Given the description of an element on the screen output the (x, y) to click on. 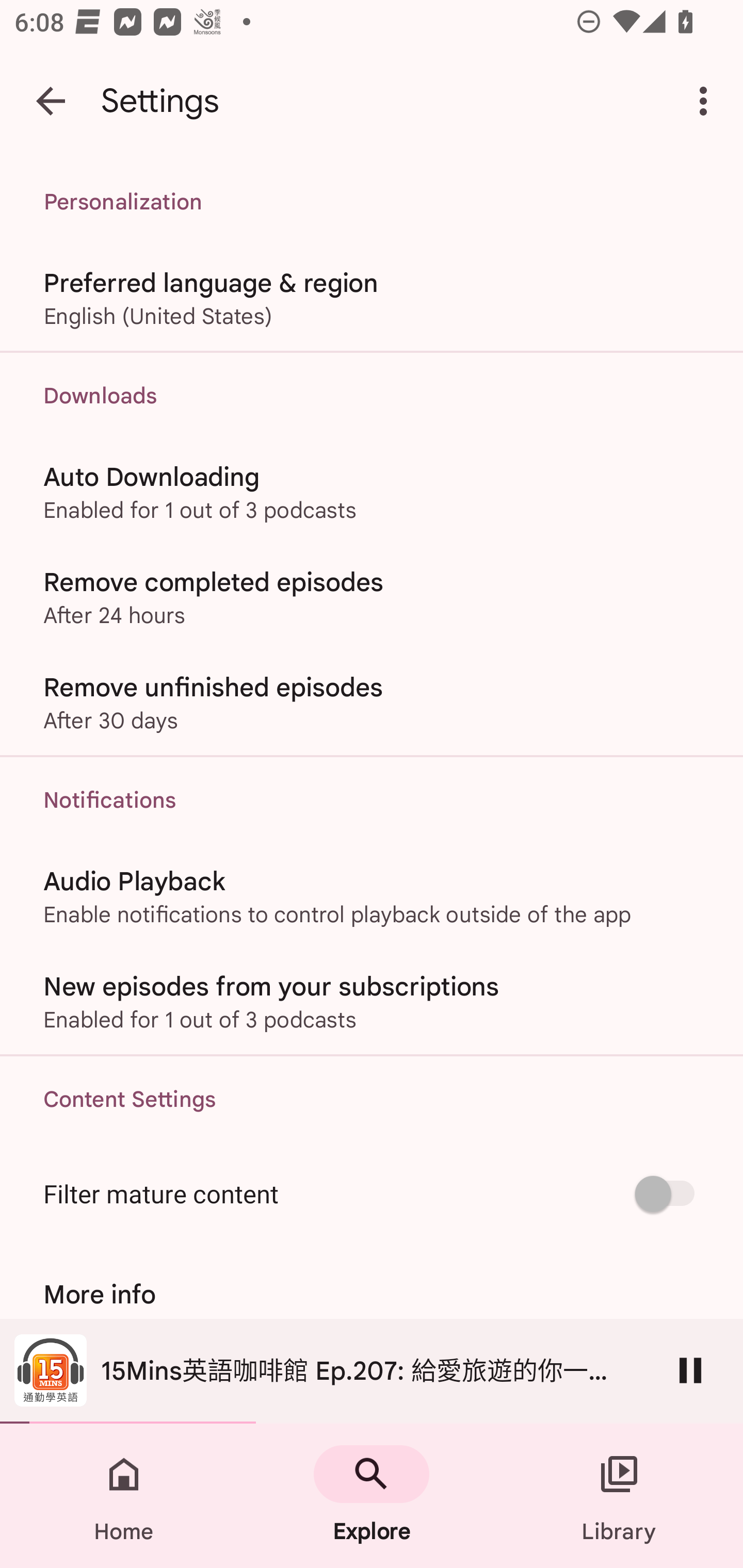
Navigate up (50, 101)
More options (706, 101)
Auto Downloading Enabled for 1 out of 3 podcasts (371, 491)
Remove completed episodes After 24 hours (371, 596)
Remove unfinished episodes After 30 days (371, 702)
More info (371, 1294)
Pause (690, 1370)
Home (123, 1495)
Library (619, 1495)
